Given the description of an element on the screen output the (x, y) to click on. 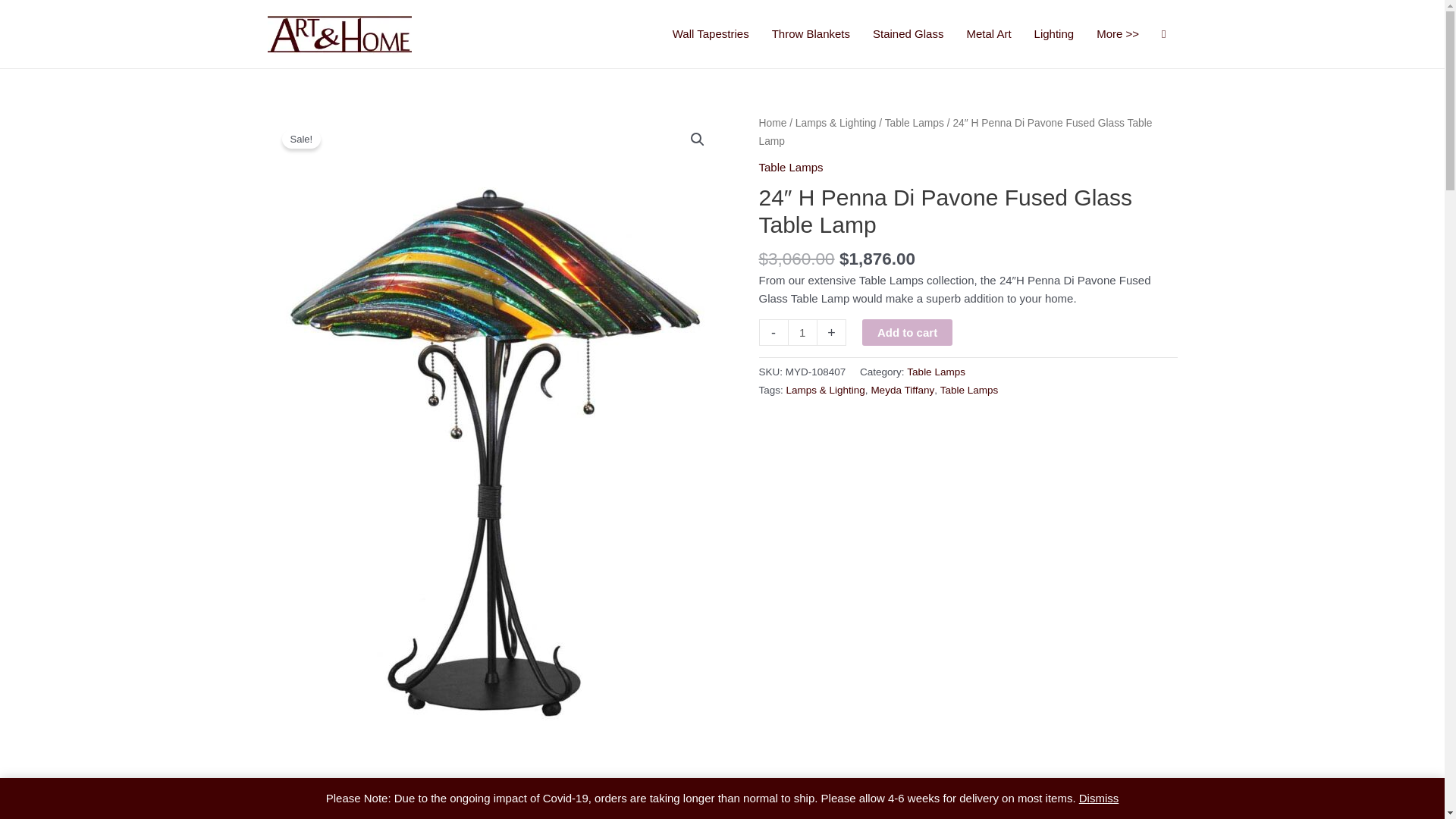
Table Lamps (914, 122)
Stained Glass (908, 34)
Metal Art (988, 34)
1 (801, 332)
Home (772, 122)
Throw Blankets (810, 34)
Table Lamps (790, 166)
Qty (801, 332)
Wall Tapestries (710, 34)
Lighting (1054, 34)
